Given the description of an element on the screen output the (x, y) to click on. 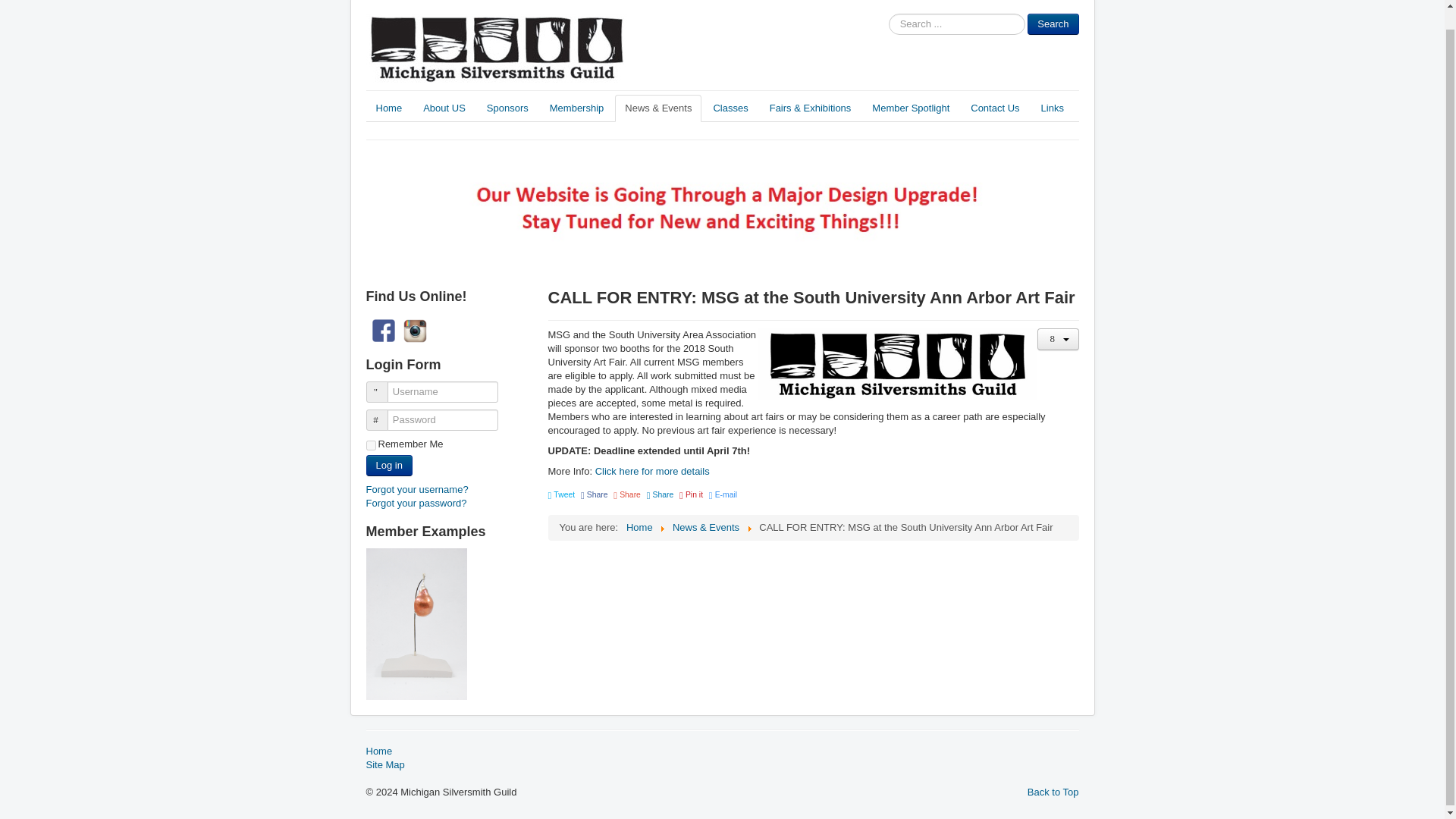
Member Spotlight (910, 108)
Log in (388, 465)
Home (639, 527)
Home (388, 108)
Membership (577, 108)
Click here for more details (652, 471)
Links (1052, 108)
E-mail (722, 494)
Tweet (561, 494)
Classes (730, 108)
Site Map (721, 765)
Share (594, 494)
Back to Top (1052, 791)
Search (1052, 24)
yes (370, 445)
